Given the description of an element on the screen output the (x, y) to click on. 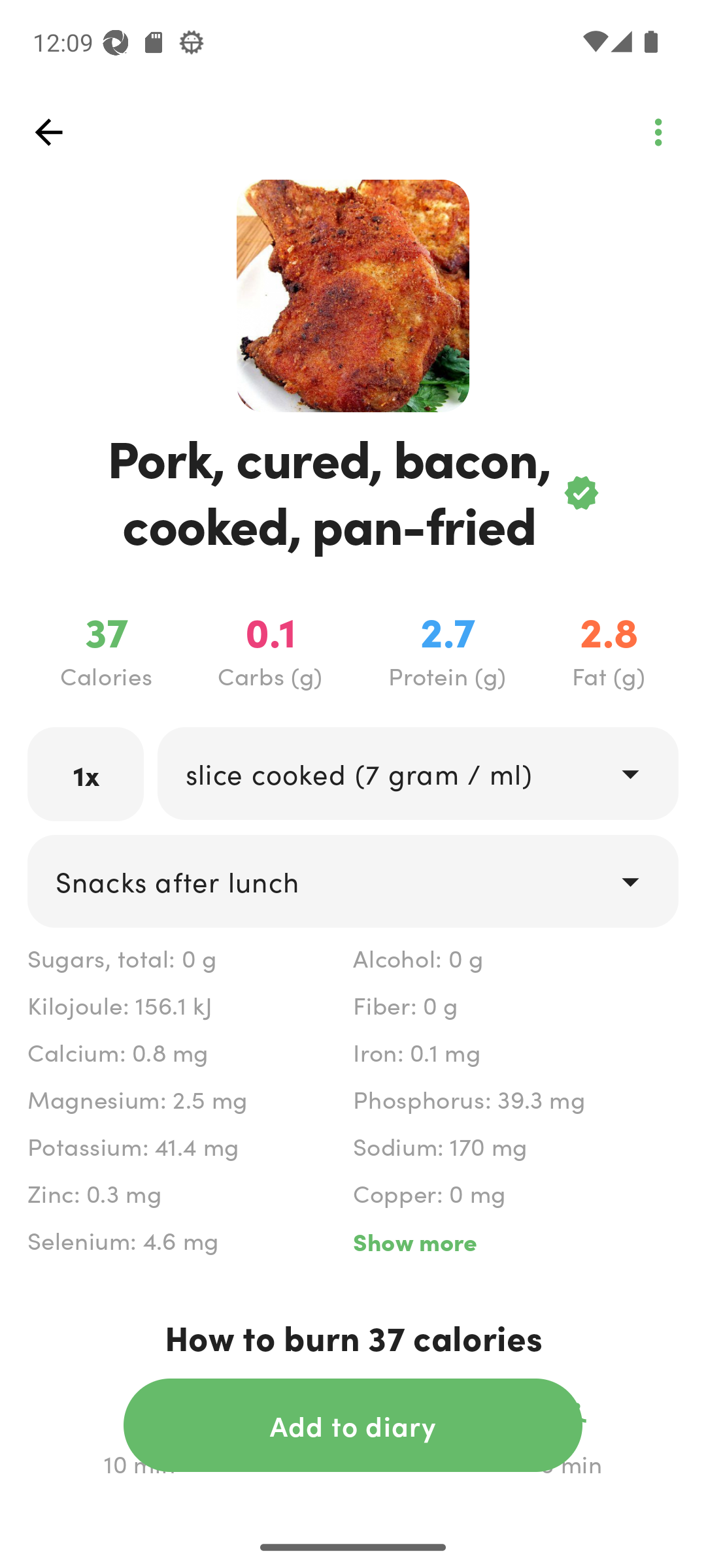
top_left_action (48, 132)
top_left_action (658, 132)
1x labeled_edit_text (85, 774)
drop_down slice cooked (7 gram / ml) (417, 773)
drop_down Snacks after lunch (352, 881)
Show more (515, 1240)
action_button Add to diary (352, 1425)
